Given the description of an element on the screen output the (x, y) to click on. 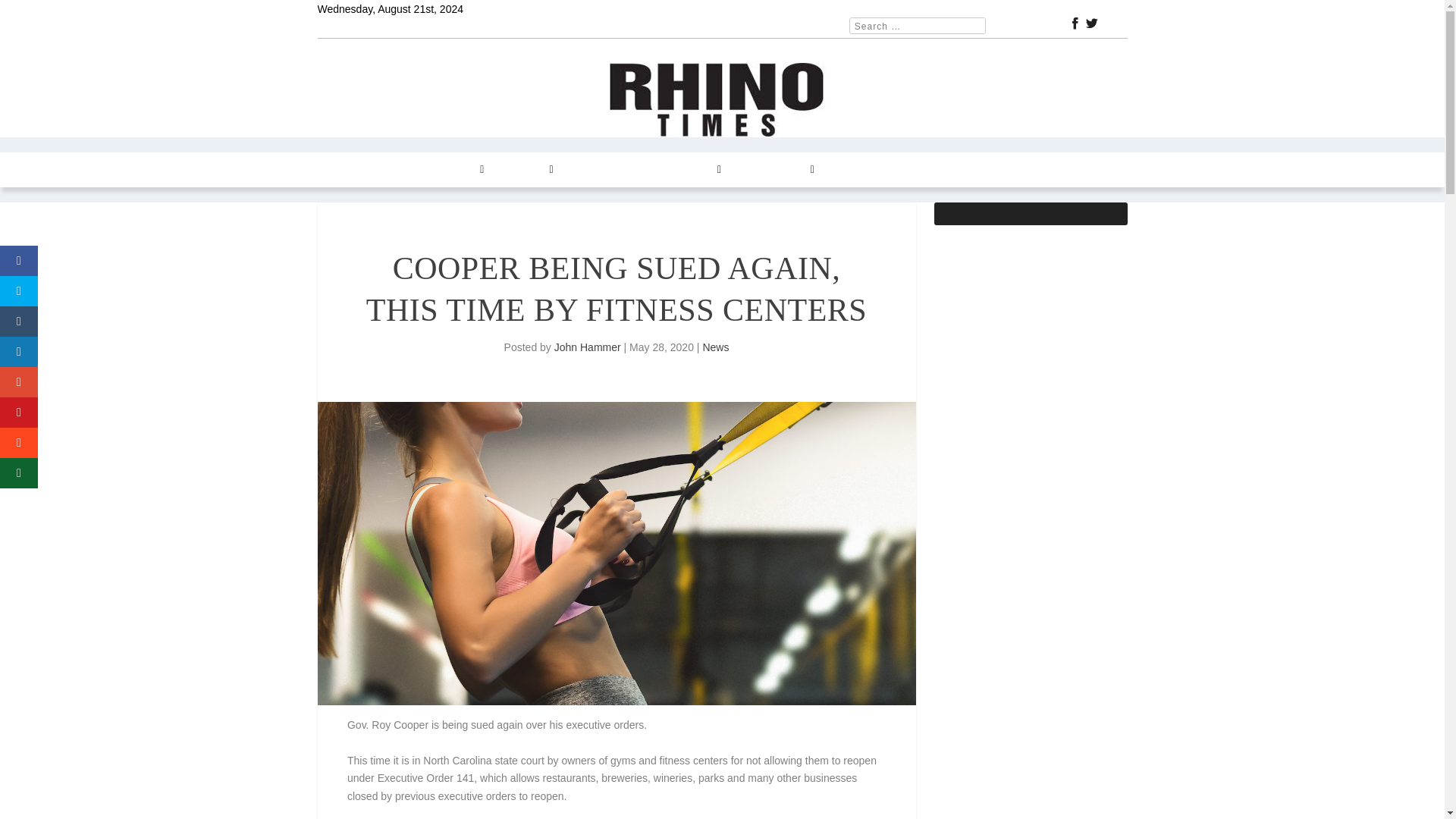
CONTACT US (775, 169)
John Hammer (587, 346)
REAL ESTATE (606, 169)
News (715, 346)
OPINION (526, 169)
HOME (342, 169)
Search (31, 13)
NEWS (390, 169)
ARCHIVES (689, 169)
OBITUARIES (935, 169)
